Given the description of an element on the screen output the (x, y) to click on. 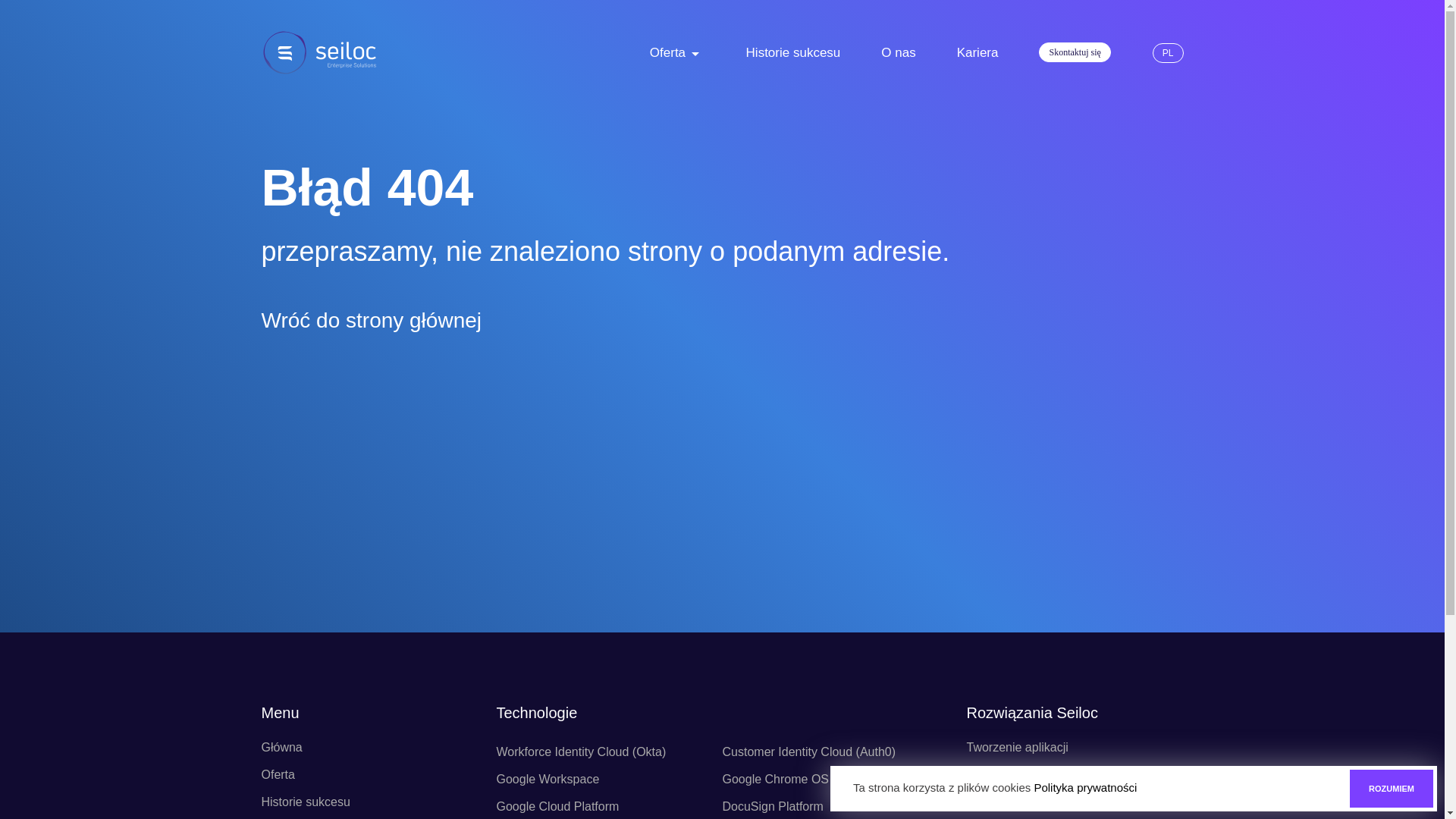
PL (1168, 53)
Historie sukcesu (793, 52)
PL (1168, 53)
Oferta (667, 52)
